Given the description of an element on the screen output the (x, y) to click on. 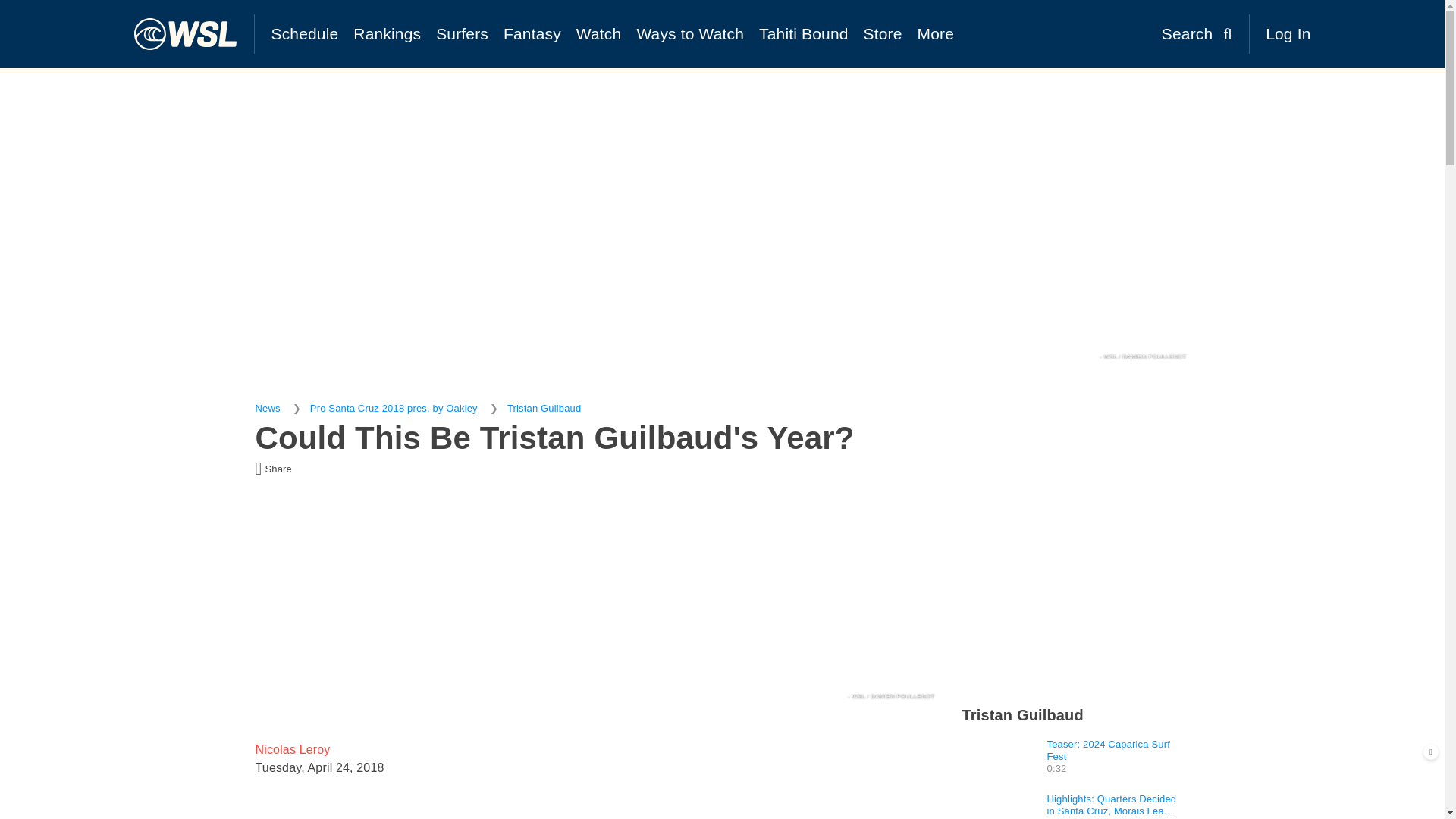
Tahiti Bound (803, 33)
Ways to Watch (689, 33)
Fantasy (532, 33)
Surfers (462, 33)
News (266, 408)
Watch (598, 33)
Rankings (387, 33)
Pro Santa Cruz 2018 pres. by Oakley (393, 408)
Tristan Guilbaud (543, 408)
Schedule (304, 33)
